Given the description of an element on the screen output the (x, y) to click on. 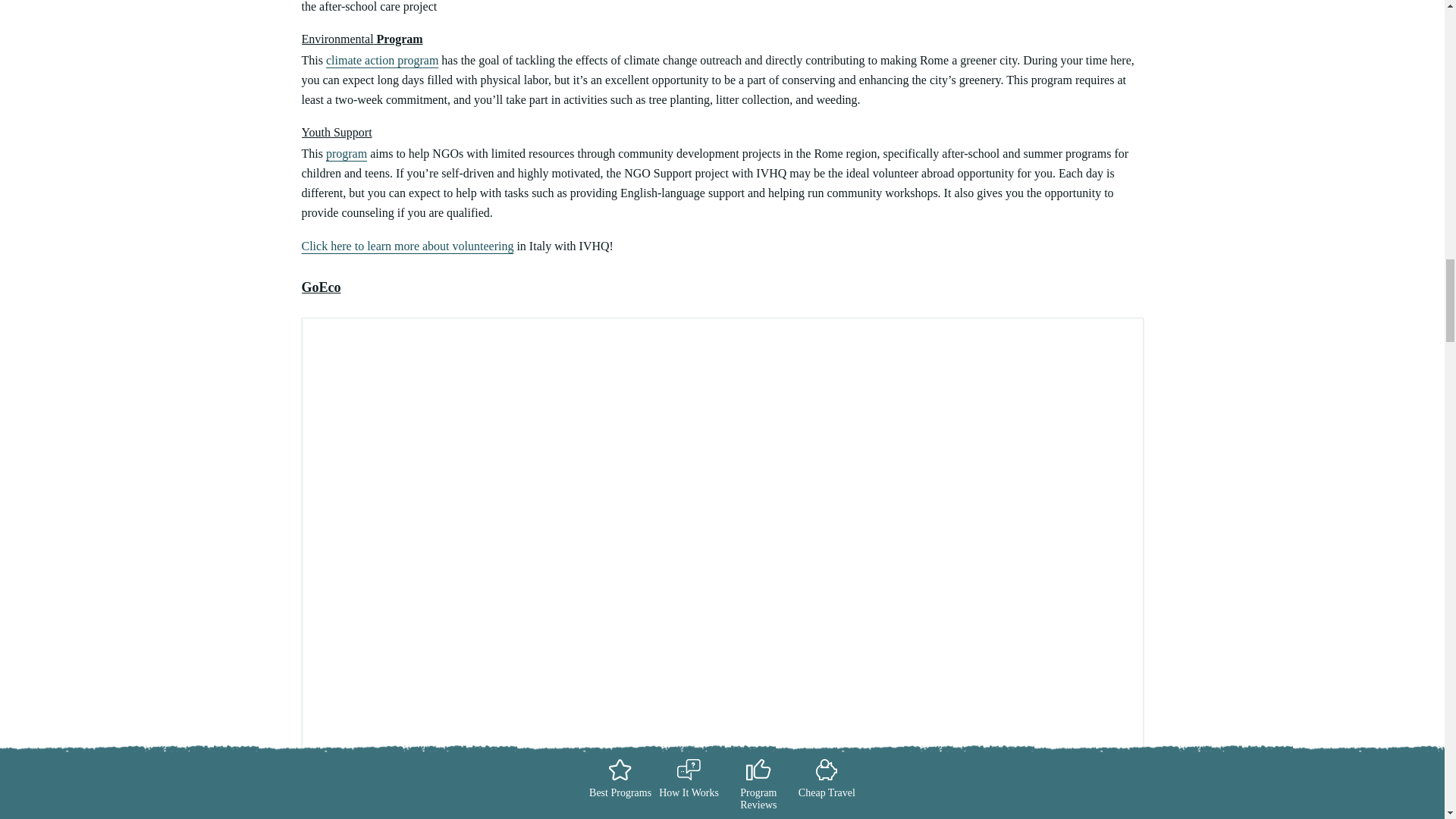
Youth Support (336, 132)
climate action program (382, 60)
GoEco (320, 287)
Environmental Program (362, 39)
program (346, 153)
Click here to learn more about volunteering (407, 245)
